Given the description of an element on the screen output the (x, y) to click on. 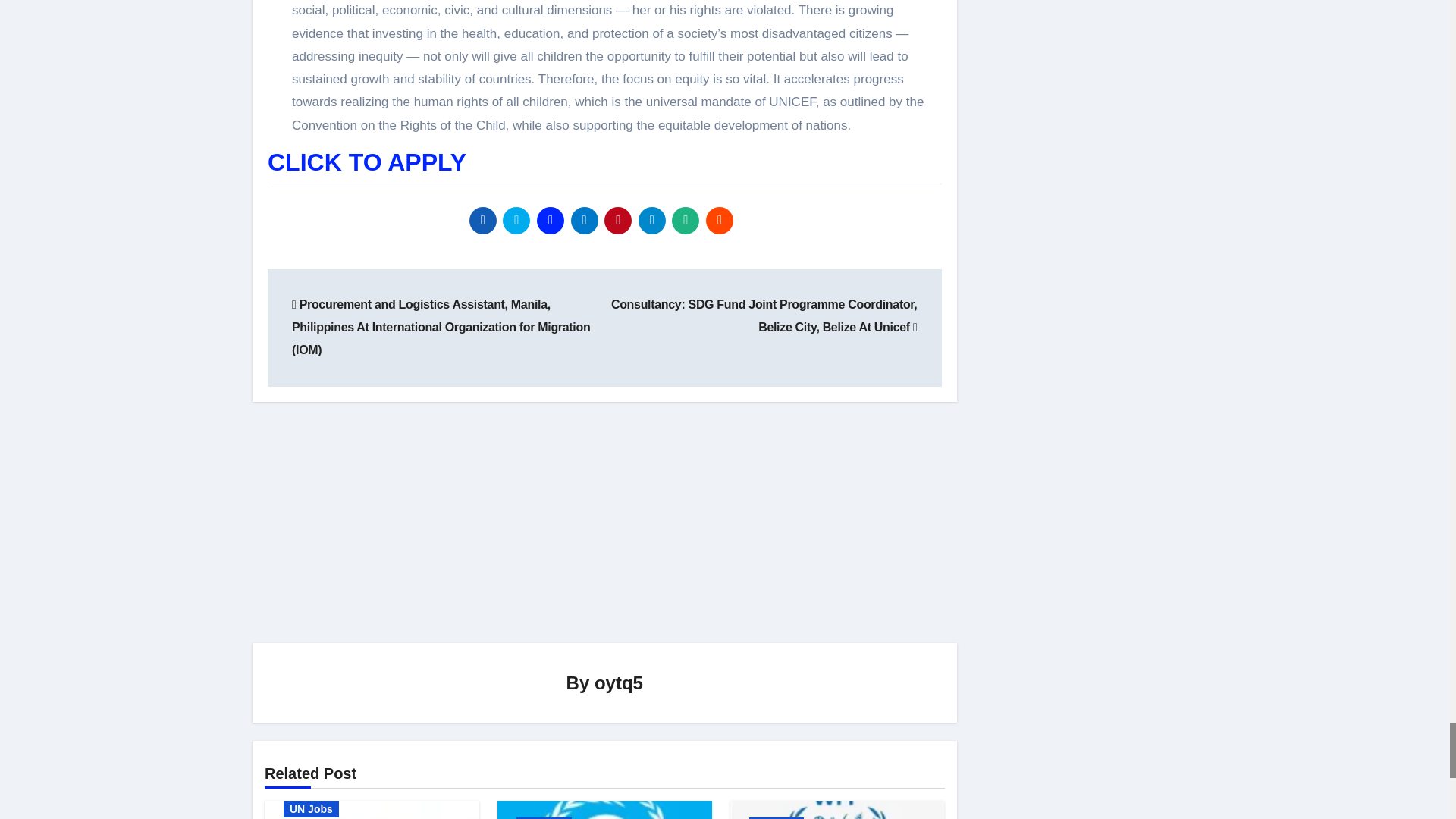
UN Jobs (311, 808)
CLICK TO APPLY (366, 162)
UN Jobs (777, 818)
oytq5 (618, 681)
UN Jobs (544, 818)
